Given the description of an element on the screen output the (x, y) to click on. 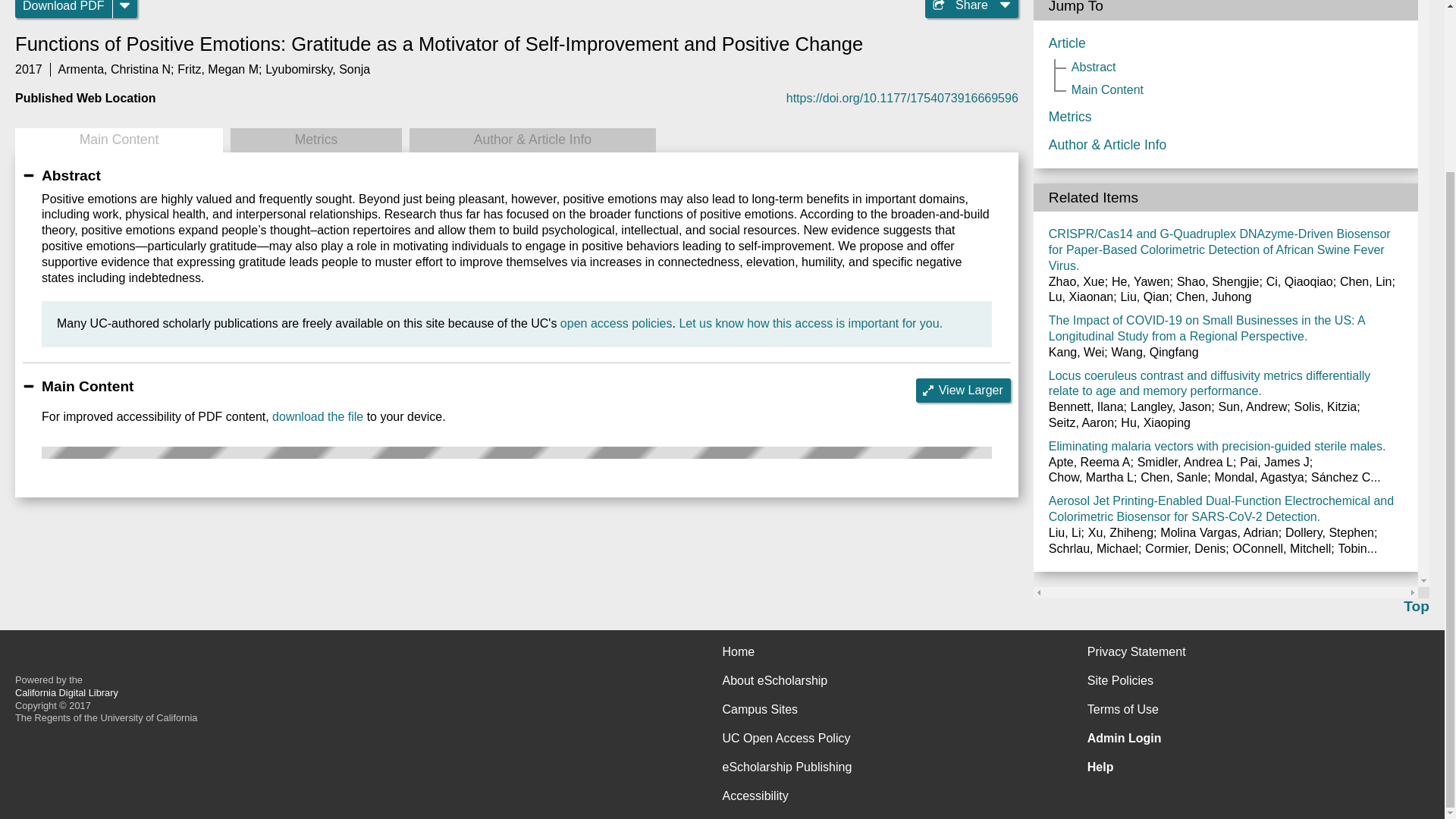
open access policies (616, 323)
Let us know how this access is important for you. (810, 323)
Main Content (118, 139)
download the file (317, 416)
Download PDF (63, 9)
Lyubomirsky, Sonja (316, 69)
Metrics (315, 139)
Fritz, Megan M (218, 69)
Armenta, Christina N (114, 69)
View Larger (962, 390)
